Given the description of an element on the screen output the (x, y) to click on. 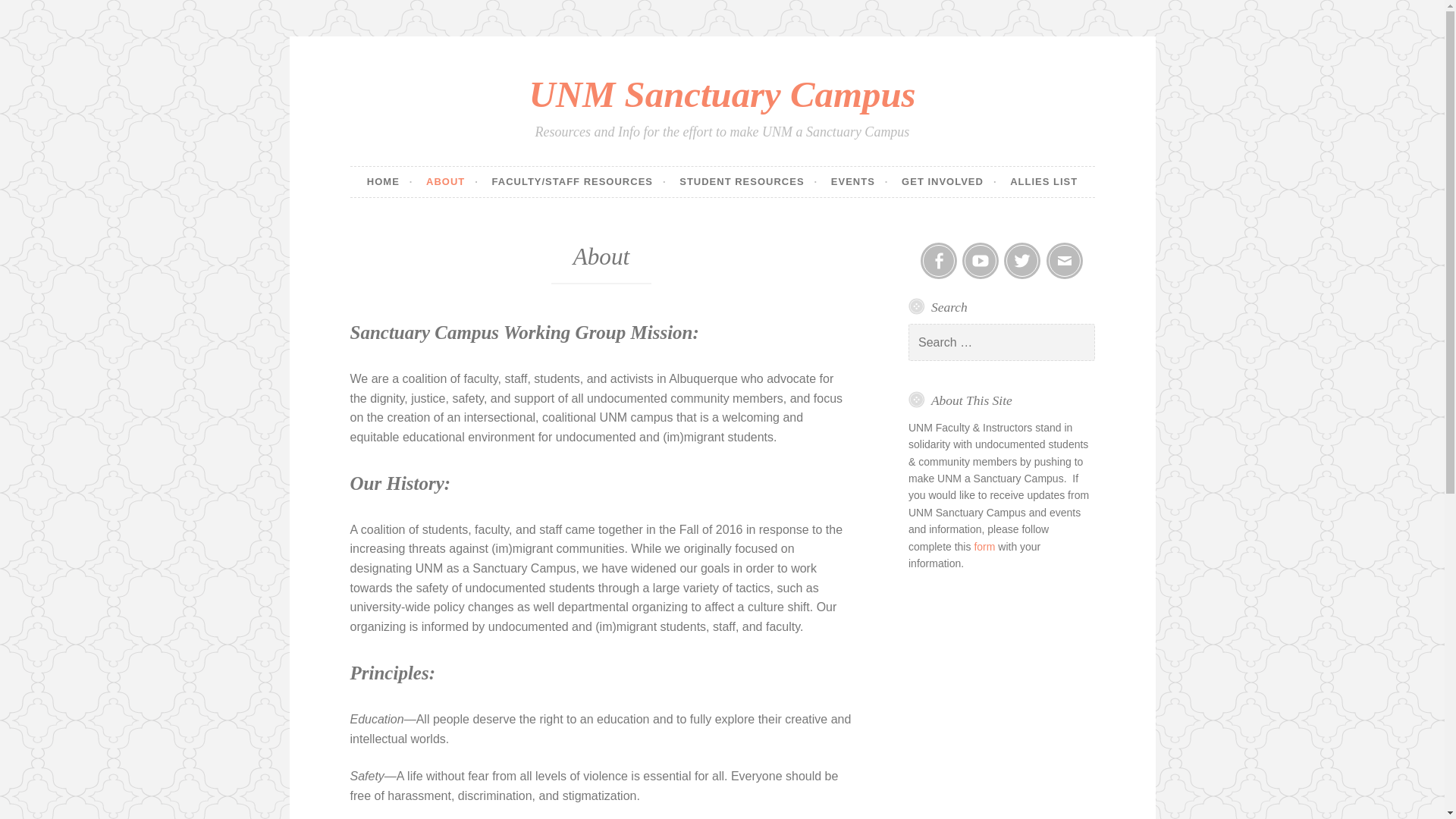
Facebook (938, 260)
form (984, 546)
Twitter (1022, 260)
STUDENT RESOURCES (747, 182)
Email (1064, 260)
ABOUT (452, 182)
EVENTS (859, 182)
Search (33, 13)
UNM Sanctuary Campus (721, 94)
